Given the description of an element on the screen output the (x, y) to click on. 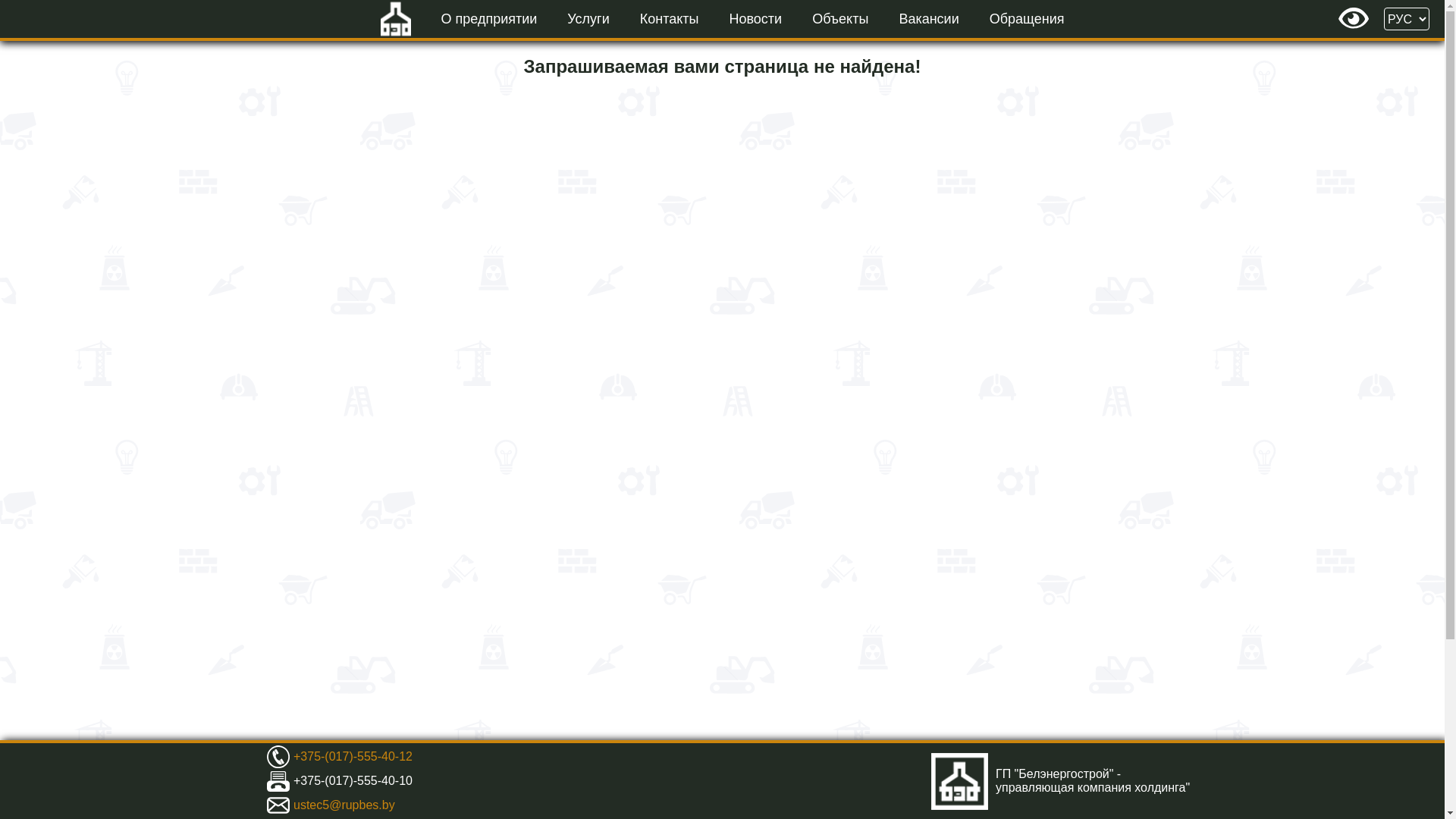
+375-(017)-555-40-12 Element type: text (352, 756)
ustec5@rupbes.by Element type: text (344, 805)
